Given the description of an element on the screen output the (x, y) to click on. 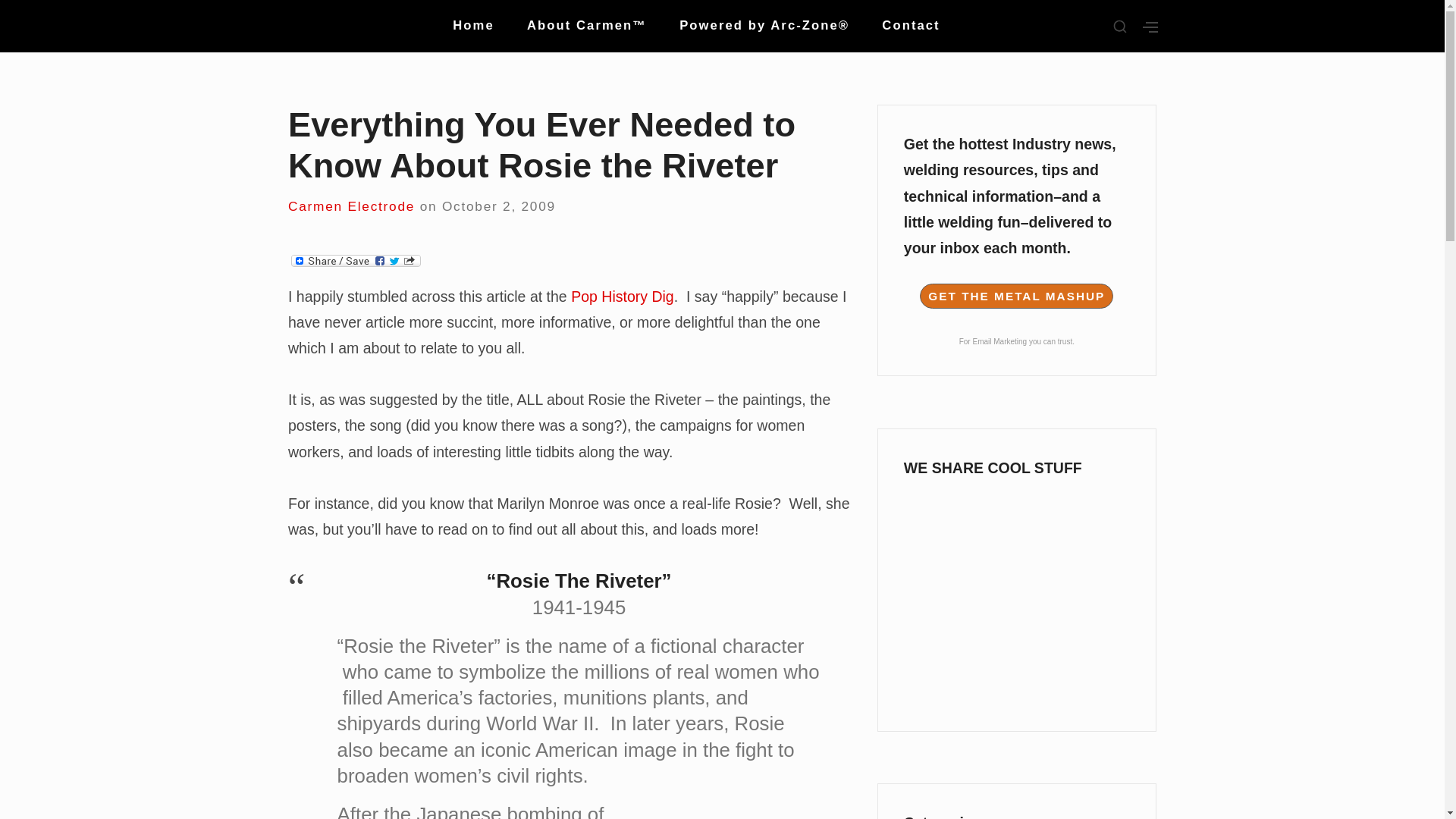
Pop History Dig (622, 296)
Follow Us on Facebook (1016, 522)
Follow Us on Twitter (1016, 584)
1941-45-rosie-the-riveter-55 (749, 813)
Follow Us on Instagram (1016, 686)
SHOW SECONDARY SIDEBAR (1120, 26)
Follow Us on YouTube (1016, 635)
GET THE METAL MASHUP (1016, 295)
SHOW SECONDARY SIDEBAR (1150, 26)
Contact (910, 26)
